Given the description of an element on the screen output the (x, y) to click on. 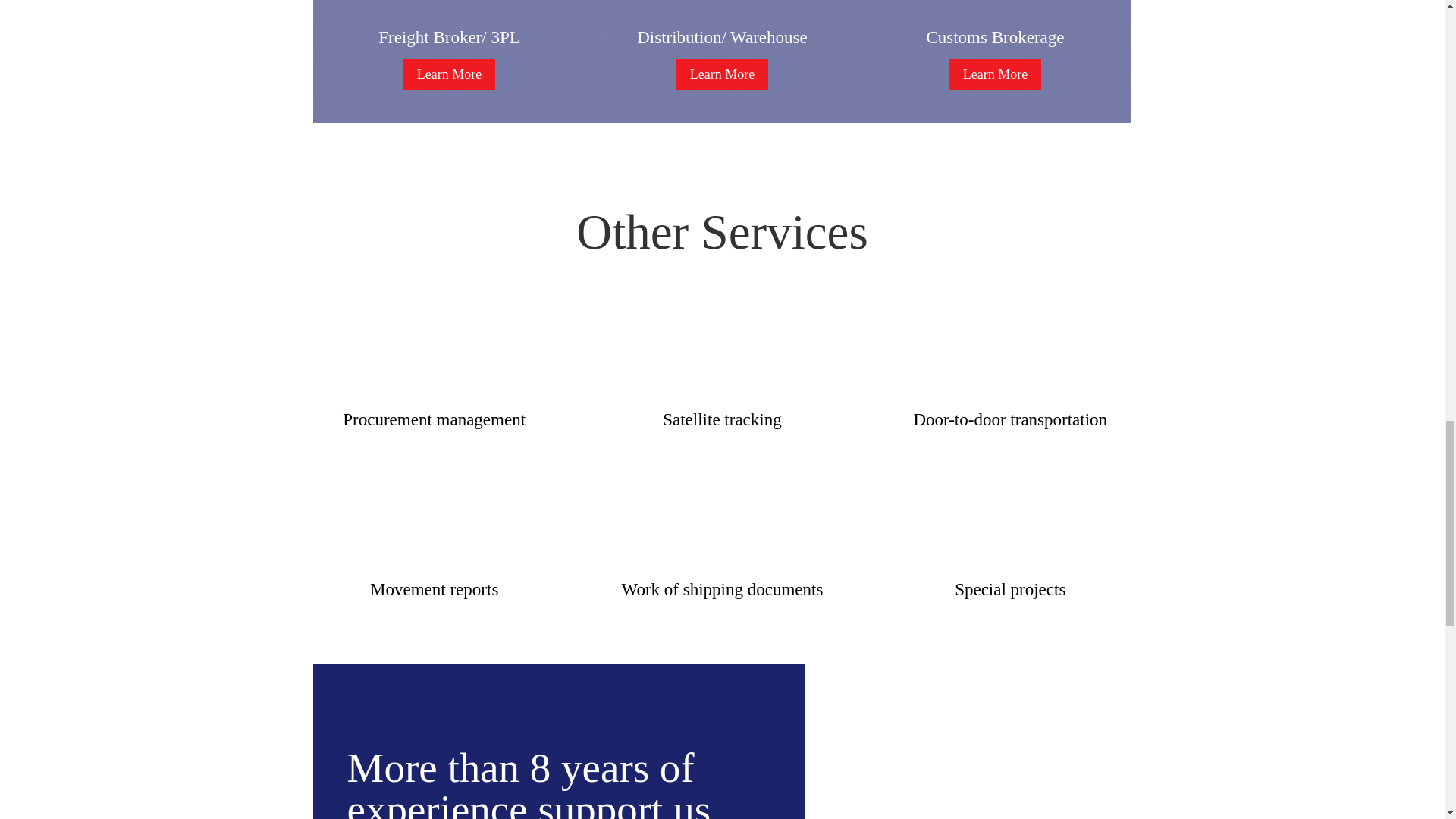
Learn More (722, 74)
Learn More (449, 74)
Learn More (995, 74)
